Given the description of an element on the screen output the (x, y) to click on. 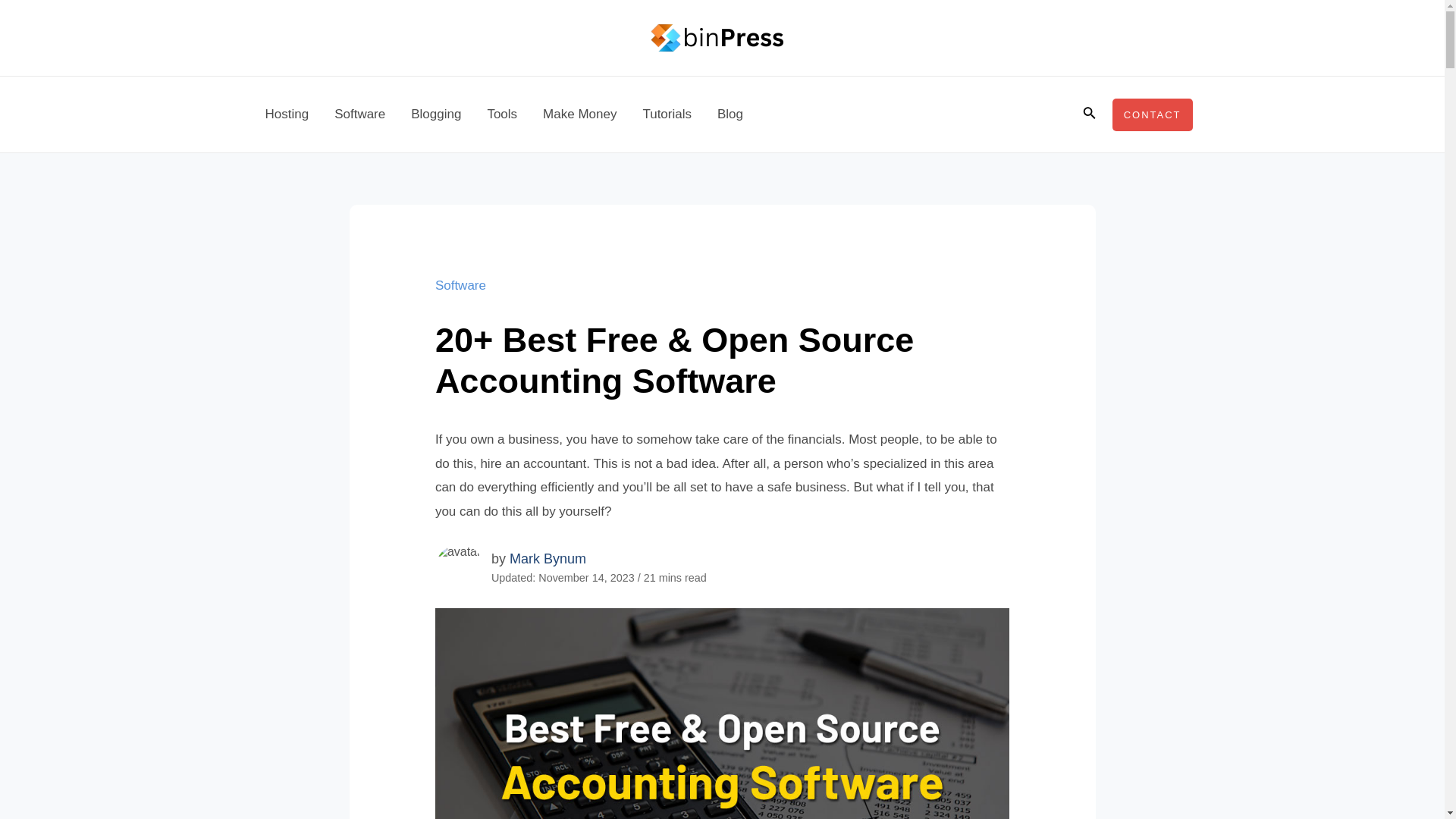
Software (460, 285)
Make Money (578, 114)
Hosting (286, 114)
Tutorials (666, 114)
Blogging (435, 114)
Software (359, 114)
Mark Bynum (547, 558)
Blog (729, 114)
Tools (501, 114)
CONTACT (1152, 114)
Search (1089, 114)
